Given the description of an element on the screen output the (x, y) to click on. 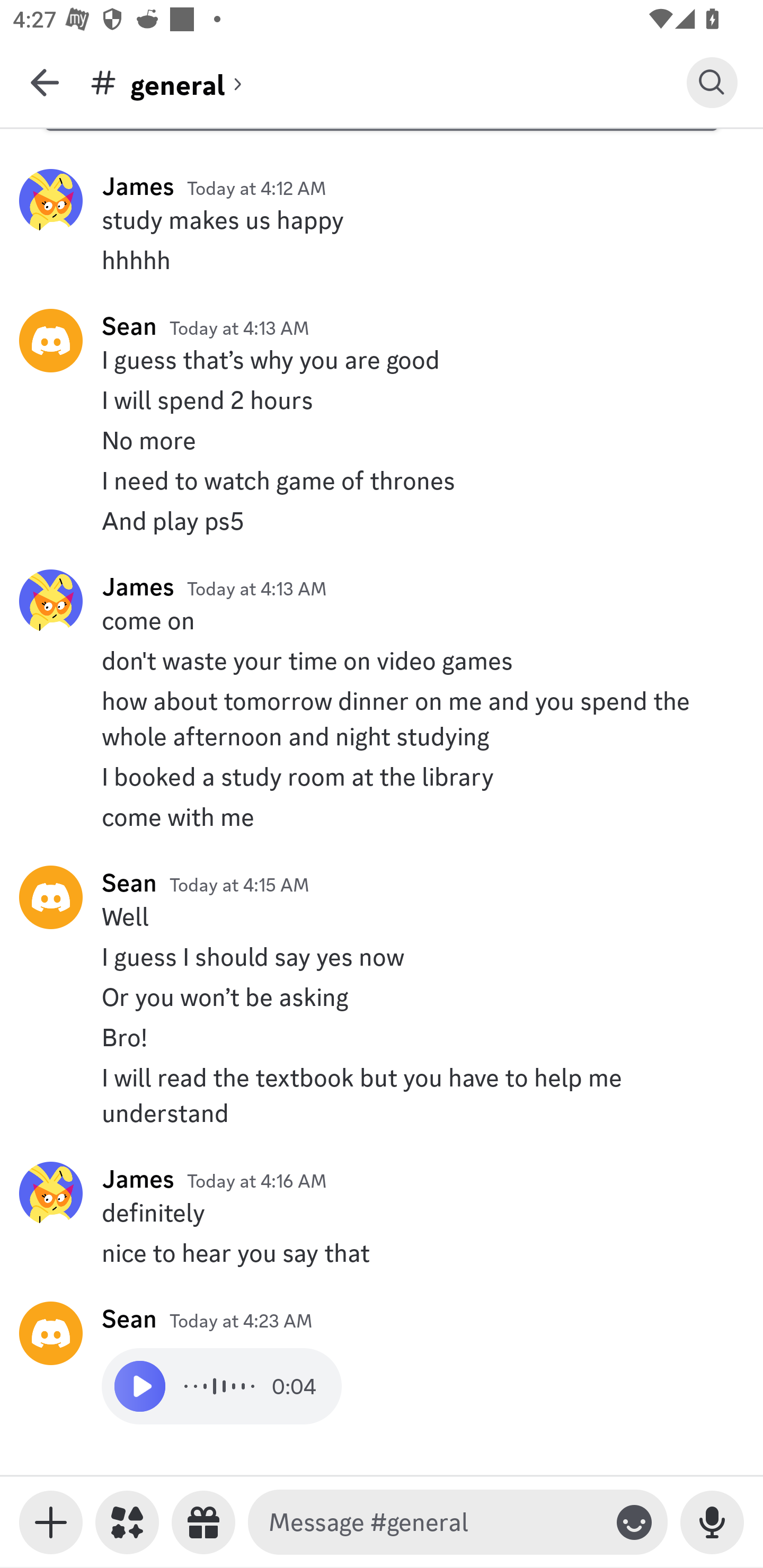
general (channel) general general (channel) (387, 82)
Back (44, 82)
Search (711, 82)
James (137, 185)
ssseannn007., hhhhh hhhhh (381, 259)
Sean (129, 325)
yuxiang.007, No more No more (381, 440)
yuxiang.007, And play ps5 And play ps5 (381, 520)
James (137, 586)
ssseannn007., come with me come with me (381, 816)
Sean (129, 882)
yuxiang.007, Bro! Bro! (381, 1036)
James (137, 1177)
Sean (129, 1318)
Voice Message; Duration: 4   0:04   (221, 1385)
Toggle media keyboard (50, 1522)
Apps (126, 1522)
Send a gift (203, 1522)
Record Voice Message (711, 1522)
Message #general (433, 1522)
Toggle emoji keyboard (634, 1522)
